Given the description of an element on the screen output the (x, y) to click on. 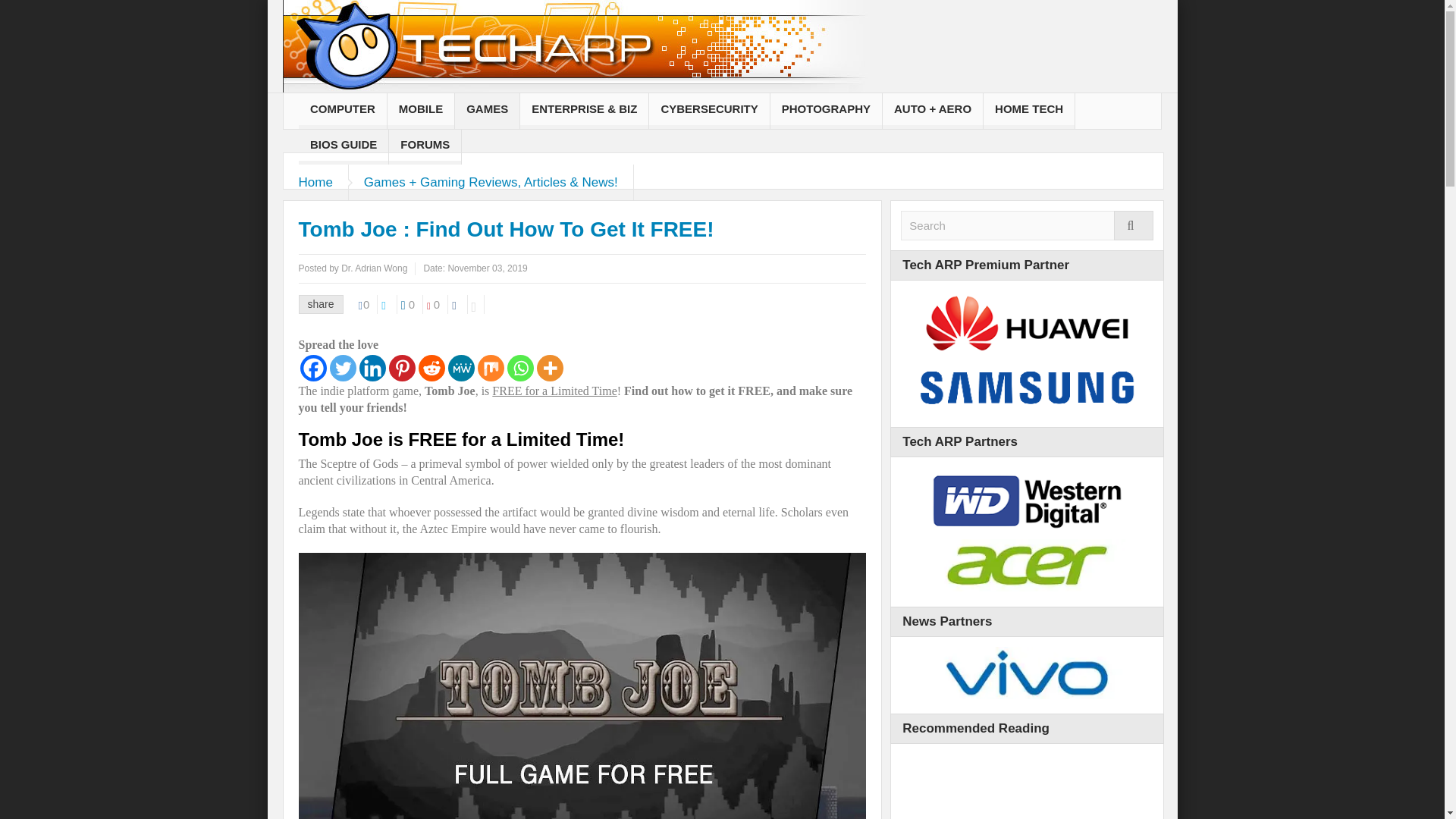
FORUMS (424, 146)
CYBERSECURITY (708, 110)
Tech ARP (574, 55)
Linkedin (372, 367)
Dr. Adrian Wong (373, 267)
PHOTOGRAPHY (826, 110)
0 (368, 303)
Search (1027, 225)
Twitter (342, 367)
BIOS GUIDE (343, 146)
Search (1027, 225)
HOME TECH (1029, 110)
Mix (490, 367)
Facebook (312, 367)
GAMES (486, 110)
